Given the description of an element on the screen output the (x, y) to click on. 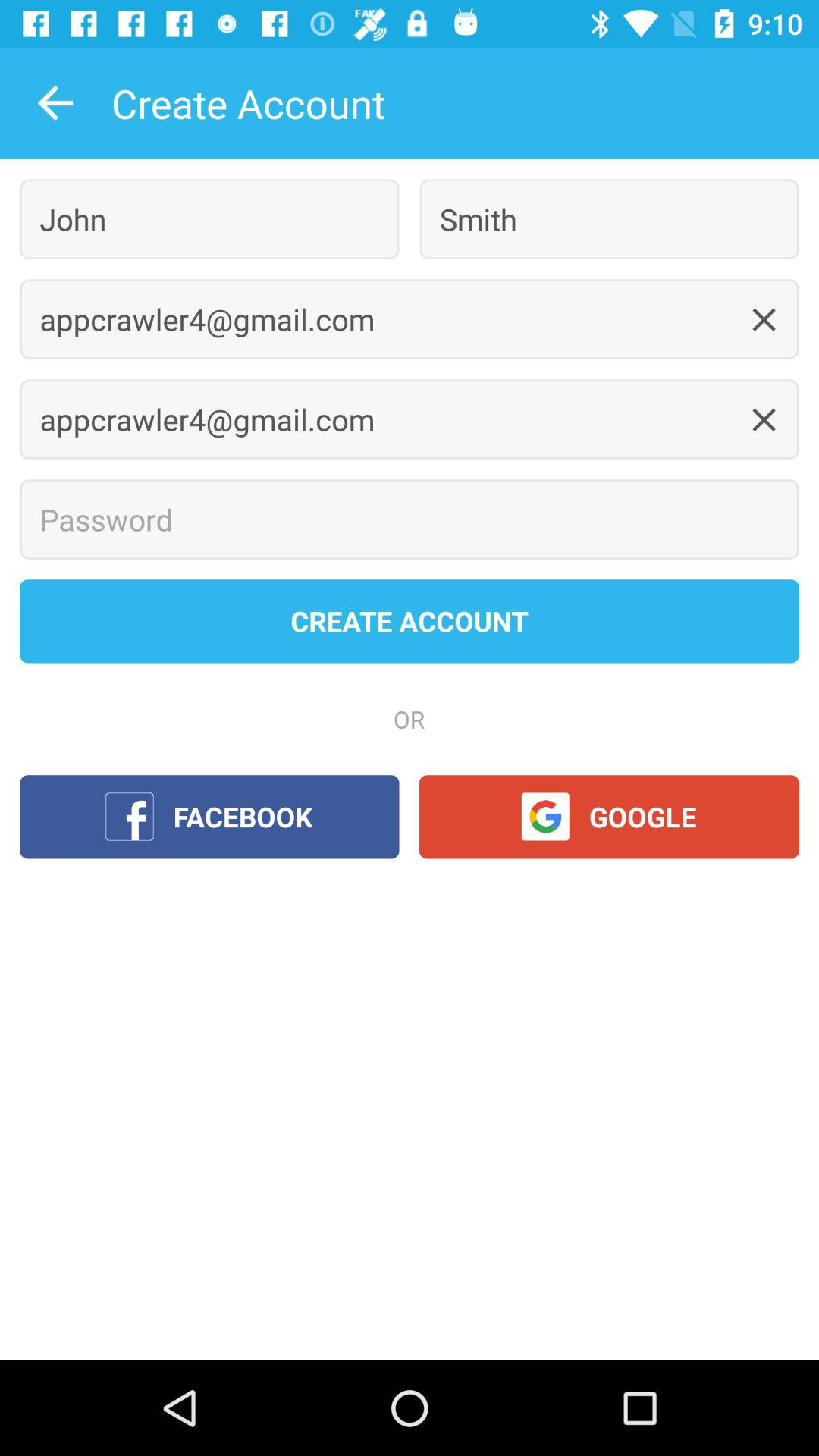
enter password (409, 519)
